Given the description of an element on the screen output the (x, y) to click on. 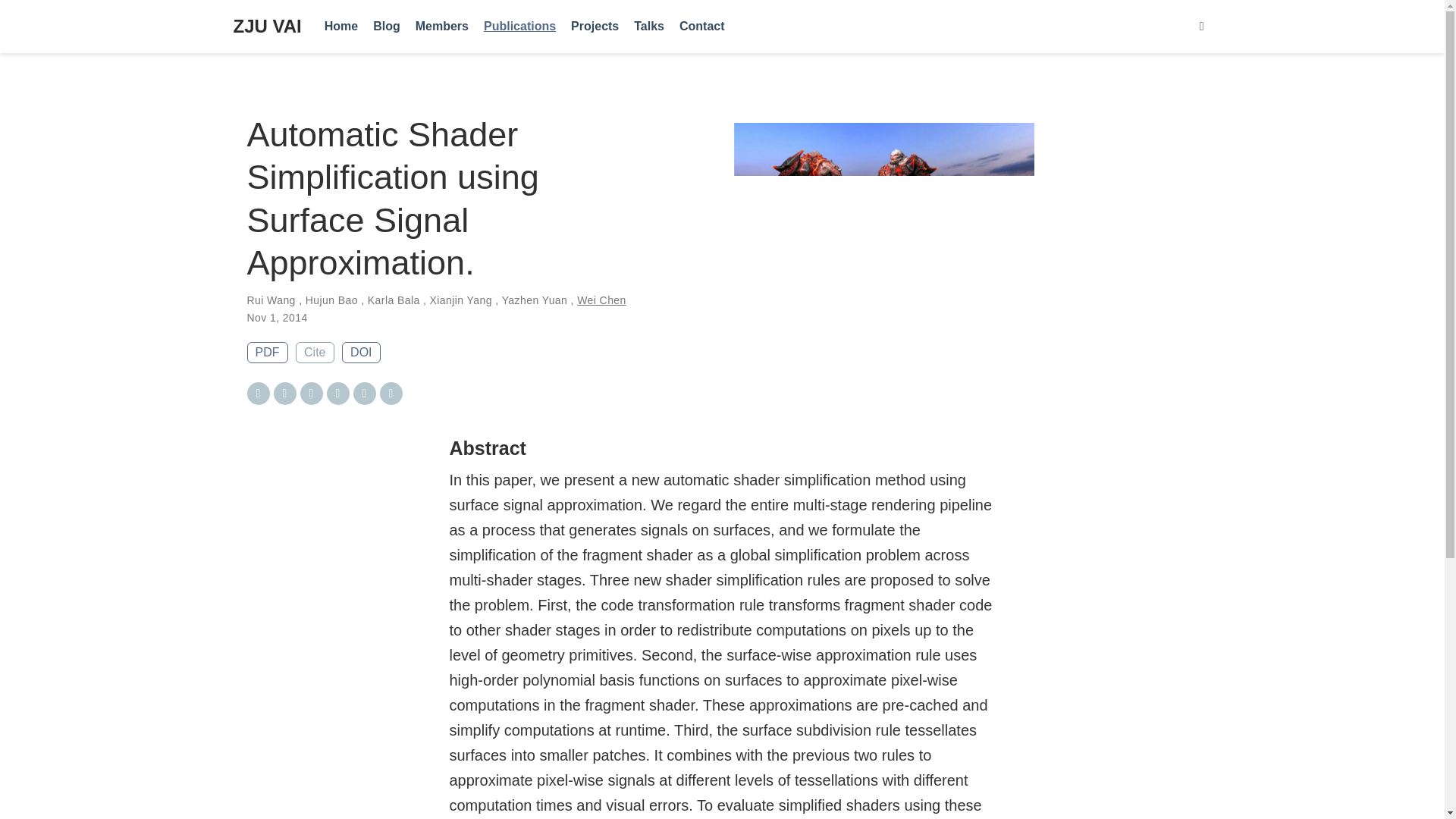
Publications (519, 26)
PDF (267, 352)
Members (441, 26)
DOI (361, 352)
Cite (314, 352)
ZJU VAI (266, 26)
Wei Chen (601, 300)
Projects (594, 26)
Contact (701, 26)
Home (341, 26)
